Given the description of an element on the screen output the (x, y) to click on. 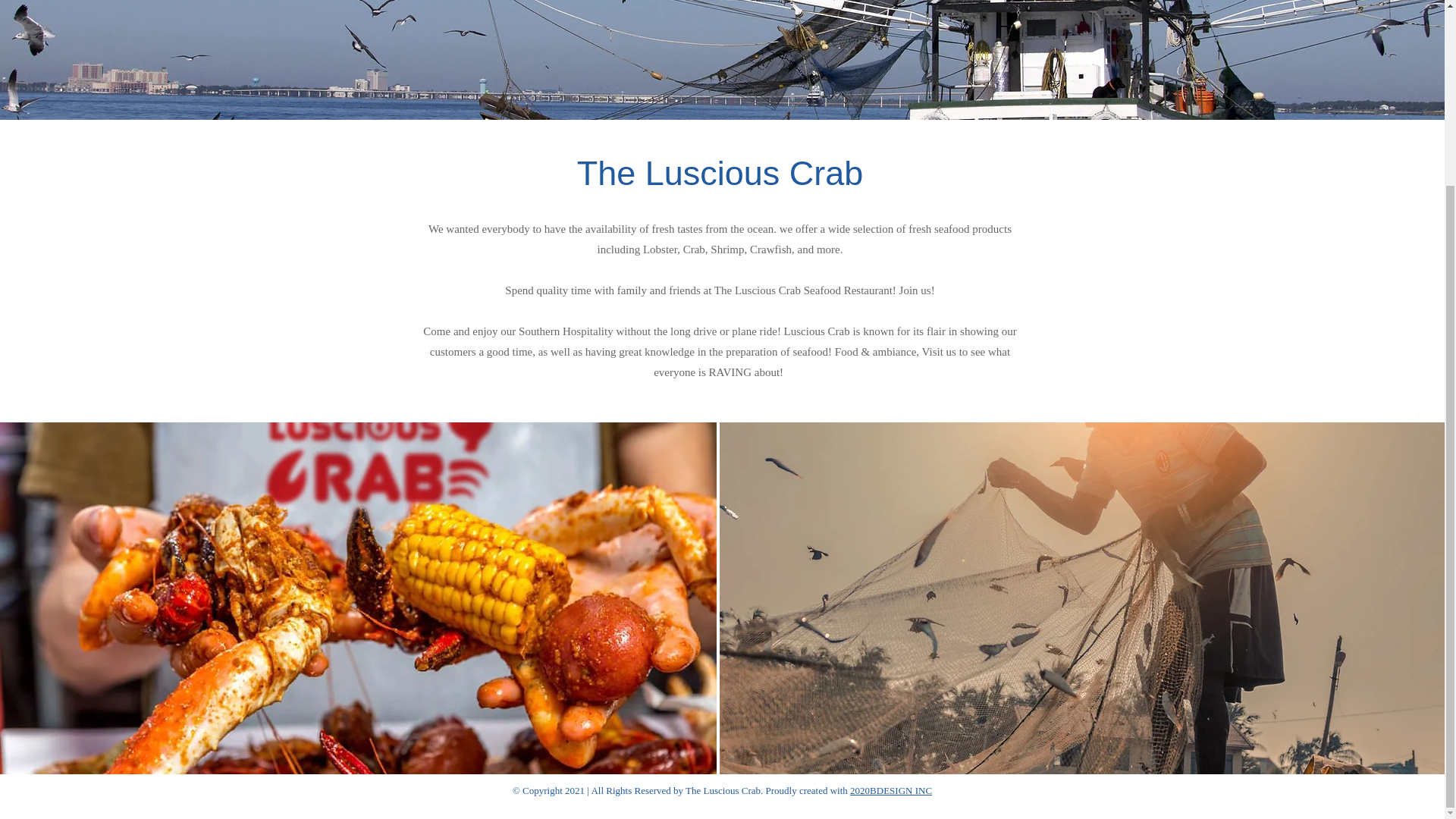
2020BDESIGN INC (890, 790)
